Given the description of an element on the screen output the (x, y) to click on. 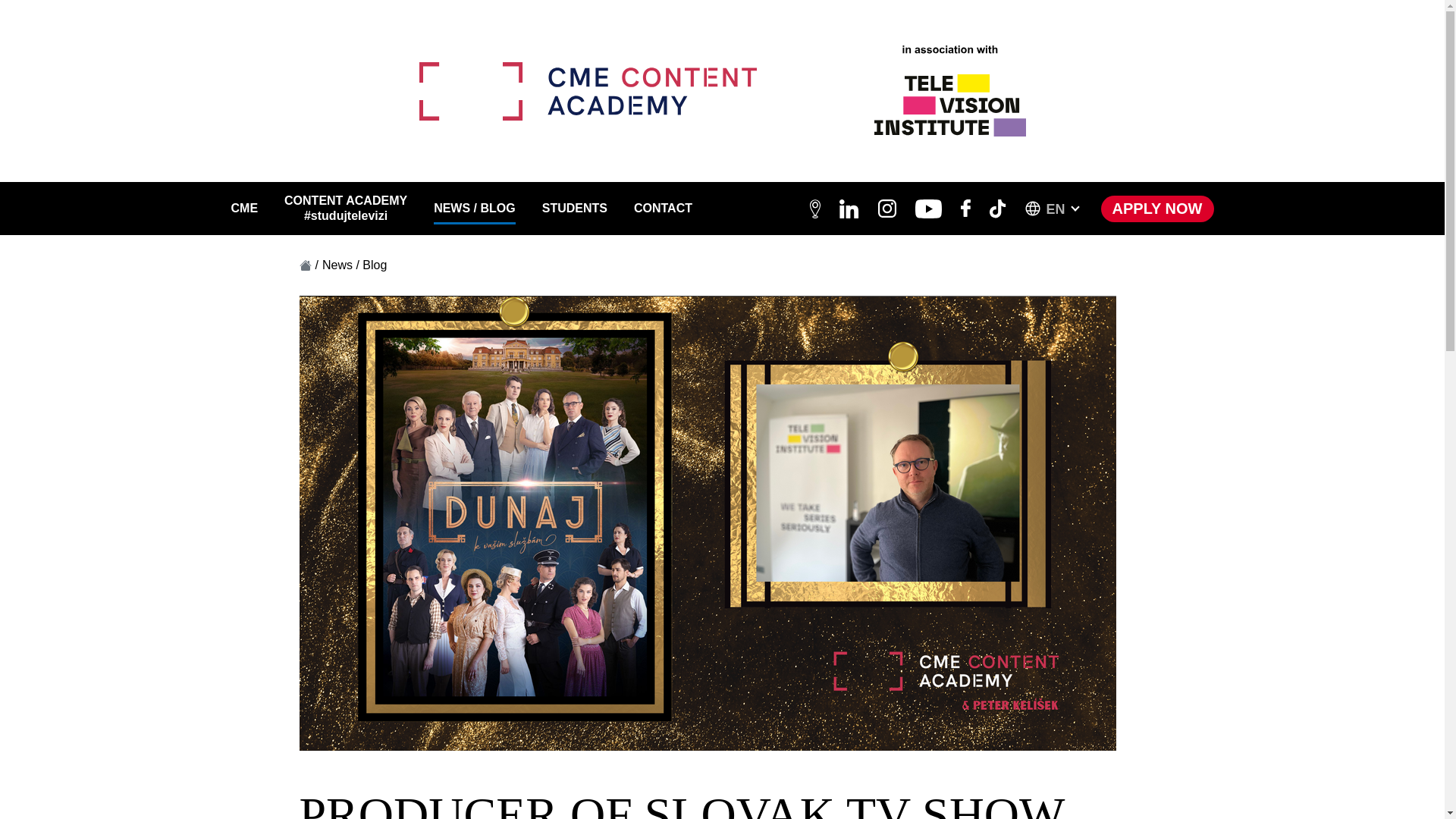
CME (243, 208)
Where to find us (815, 208)
Television institute (949, 90)
Instagram (886, 208)
STUDENTS (574, 208)
LinkedIn (849, 208)
Students (574, 208)
CME (243, 208)
Youtube (928, 208)
CME Content Academy (587, 91)
APPLY NOW (1157, 208)
CONTACT (663, 208)
Contact (663, 208)
